Given the description of an element on the screen output the (x, y) to click on. 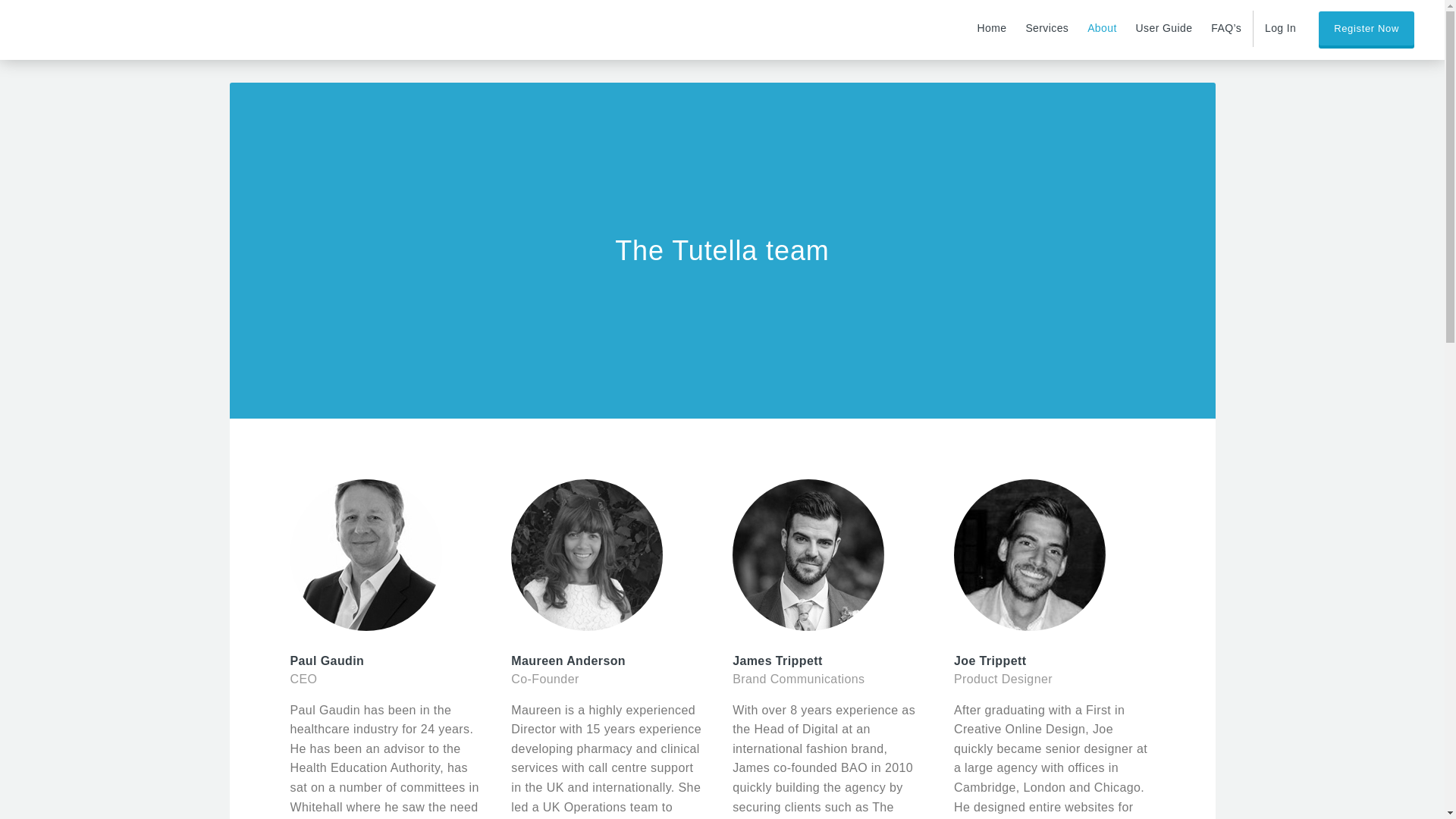
Services (1046, 29)
Home (991, 29)
Create a profile for yourself or someone else (1366, 28)
Tutella Home (991, 29)
Tutella (62, 28)
Log In (1280, 29)
User Guide (1163, 29)
About (1101, 29)
Tutella (62, 28)
Register Now (1366, 28)
